Given the description of an element on the screen output the (x, y) to click on. 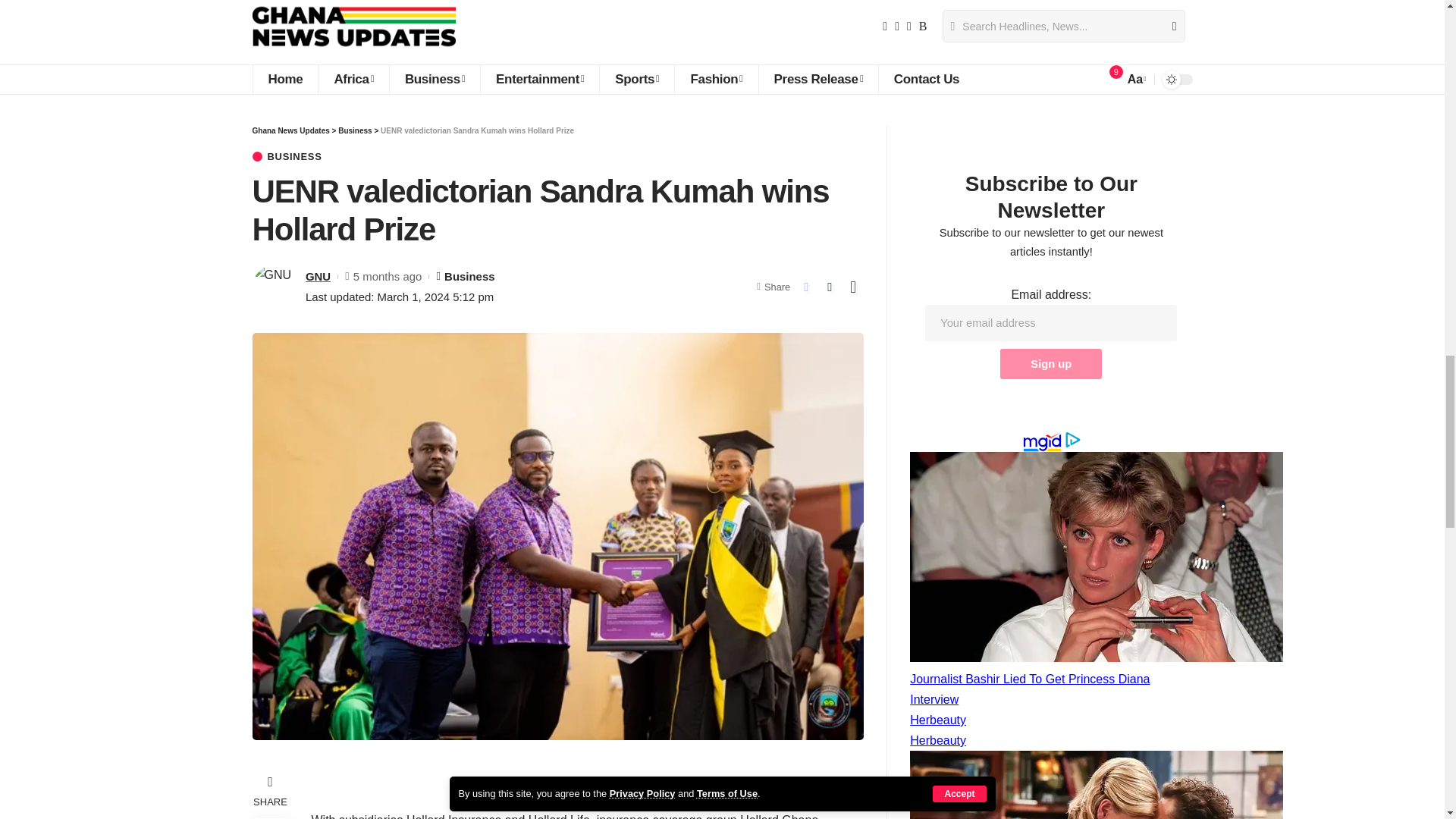
Africa (352, 79)
Business (434, 79)
Home (284, 79)
Entertainment (539, 79)
Sign up (1051, 363)
Search (1168, 26)
Ghana News Updates (353, 26)
